Given the description of an element on the screen output the (x, y) to click on. 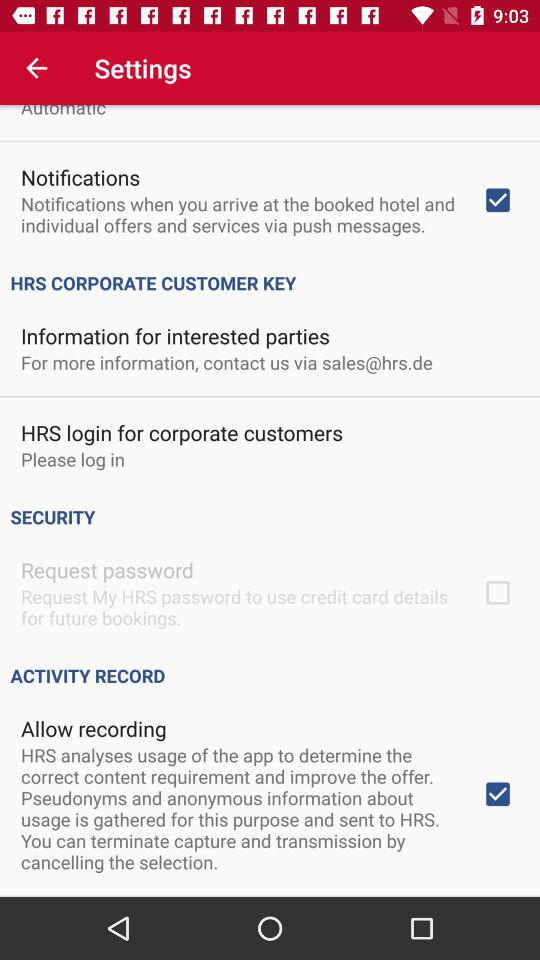
choose icon next to the settings item (36, 68)
